Given the description of an element on the screen output the (x, y) to click on. 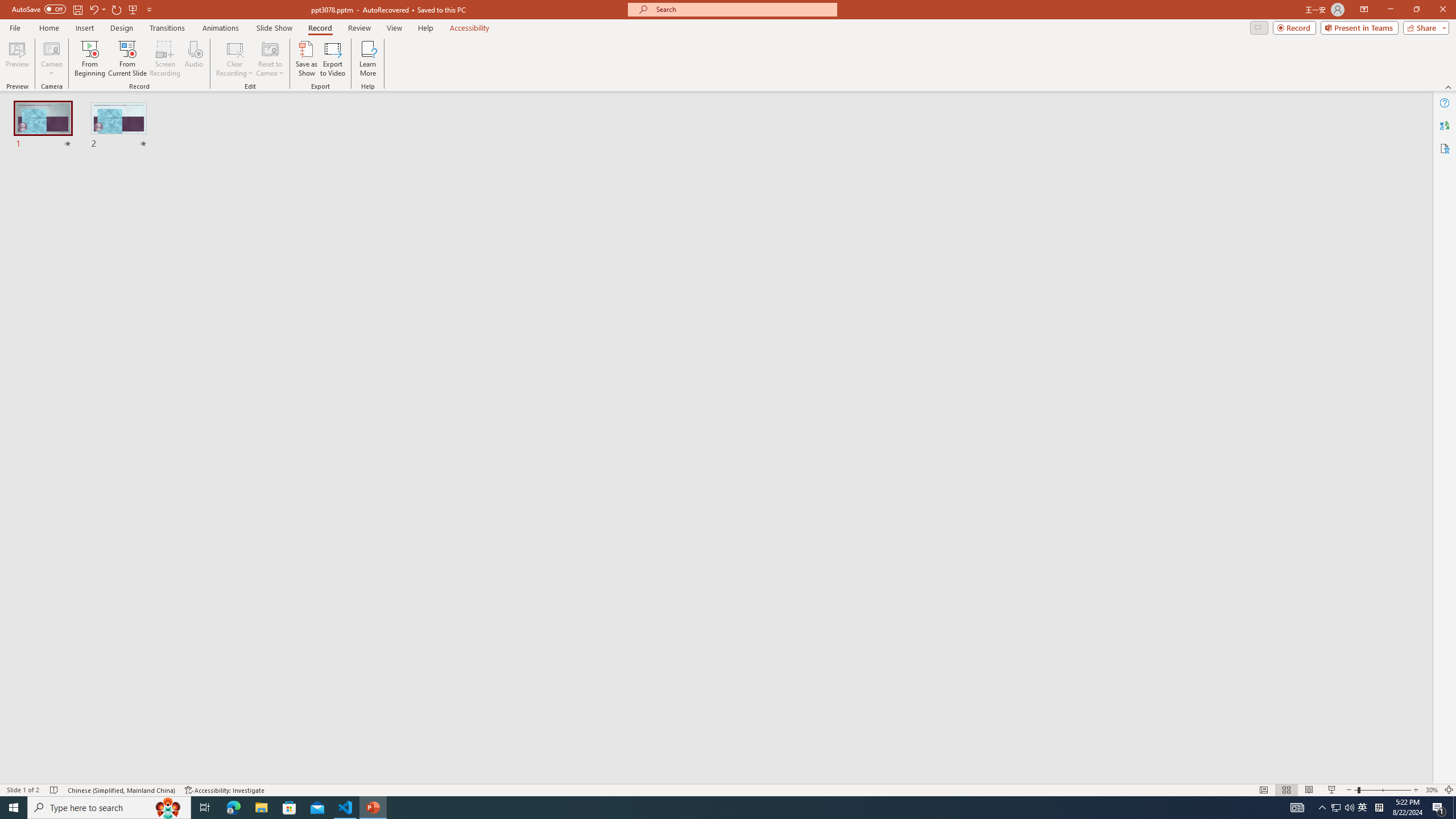
Zoom 30% (1431, 790)
